Given the description of an element on the screen output the (x, y) to click on. 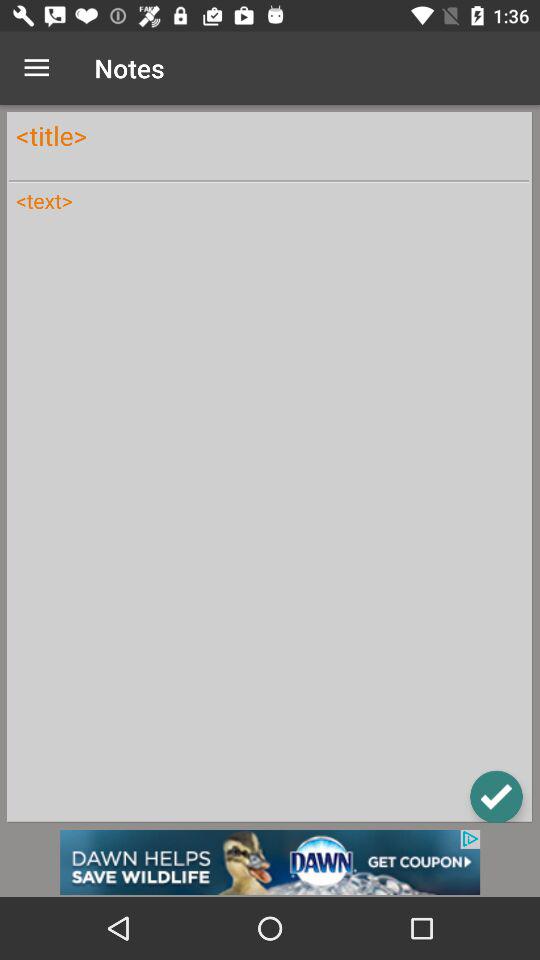
title (269, 135)
